Given the description of an element on the screen output the (x, y) to click on. 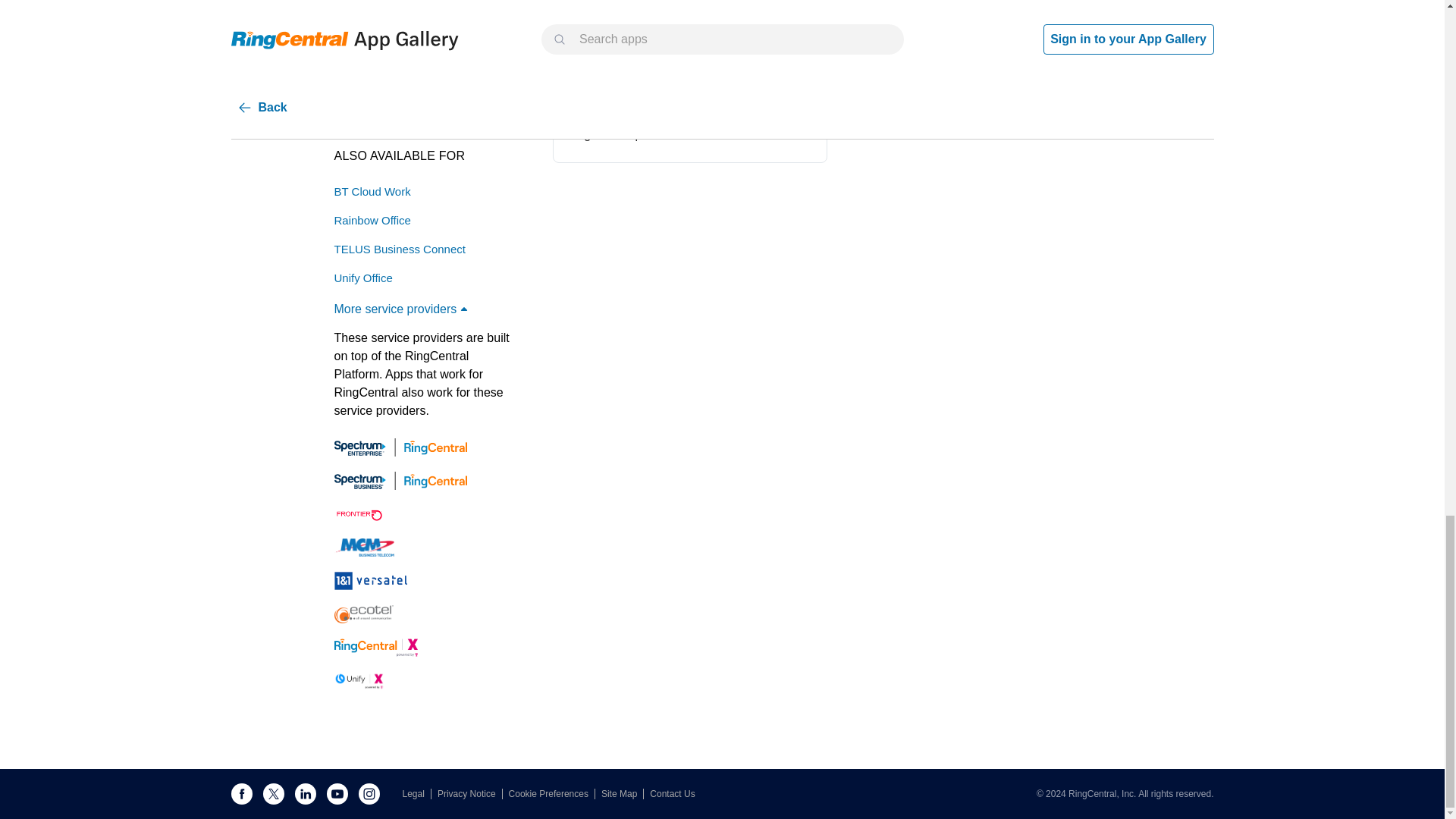
Publisher website (395, 34)
Unify Office (362, 277)
Support website (395, 65)
TELUS Business Connect (398, 248)
Site Map (622, 793)
Phone (689, 90)
Rainbow Office (371, 219)
Legal (415, 793)
Privacy Notice (470, 793)
More service providers (402, 308)
Contact Us (671, 793)
BT Cloud Work (371, 191)
Cookie Preferences (551, 793)
